Given the description of an element on the screen output the (x, y) to click on. 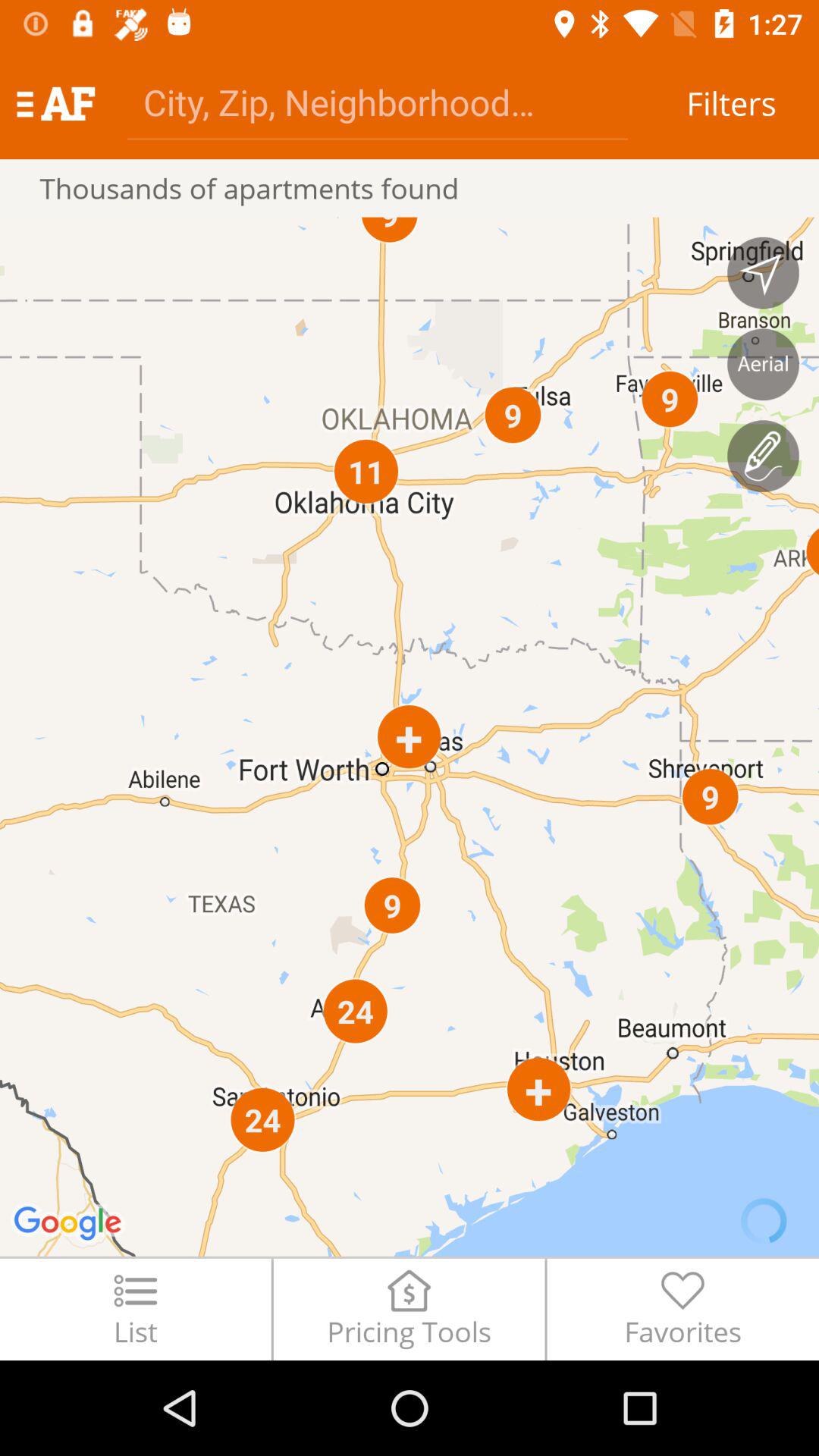
flip to the filters (731, 103)
